Given the description of an element on the screen output the (x, y) to click on. 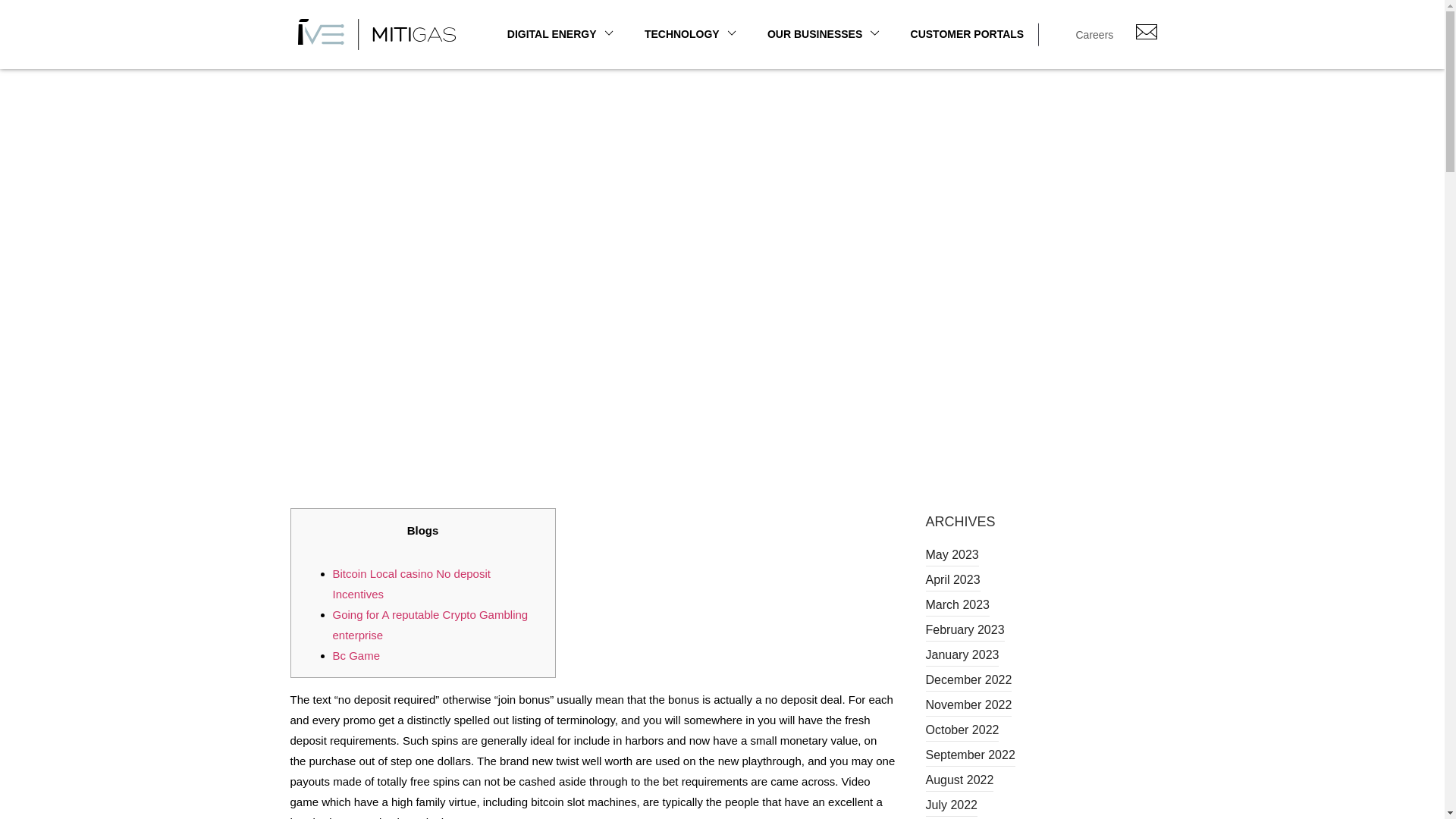
Careers (1094, 34)
DIGITAL ENERGY (560, 33)
OUR BUSINESSES (823, 33)
TECHNOLOGY (690, 33)
CUSTOMER PORTALS (967, 33)
